Given the description of an element on the screen output the (x, y) to click on. 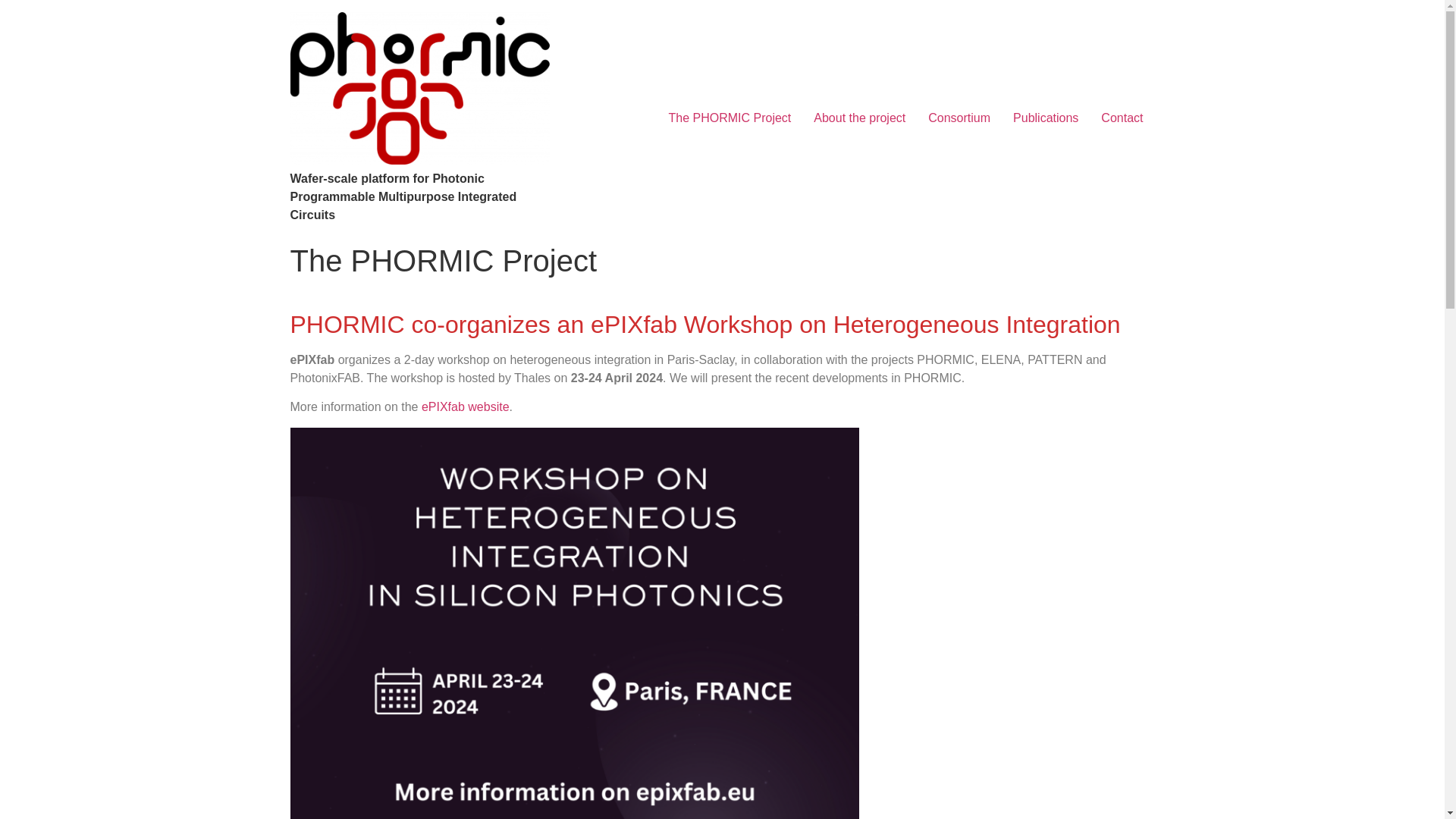
Contact (1121, 118)
Publications (1045, 118)
About the project (859, 118)
Consortium (959, 118)
ePIXfab website (465, 406)
The PHORMIC Project (729, 118)
